Given the description of an element on the screen output the (x, y) to click on. 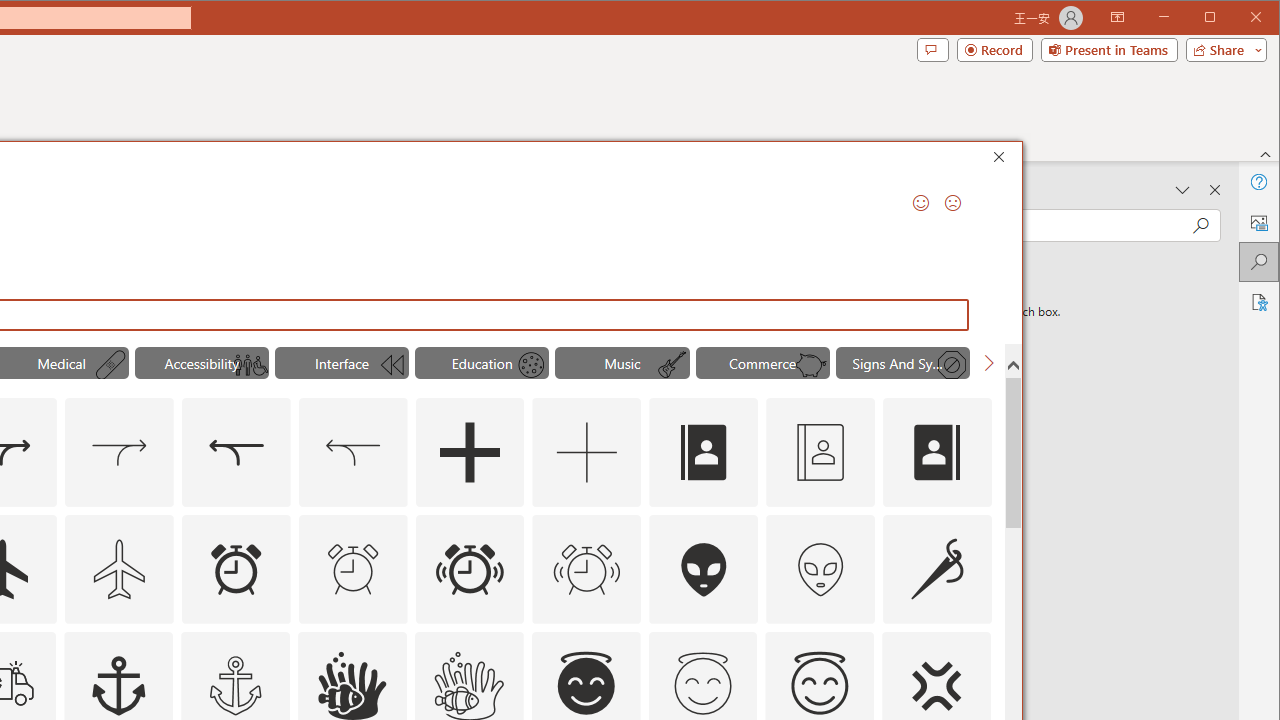
AutomationID: Icons_UniversalAccess_M (250, 365)
Maximize (1238, 18)
AutomationID: Icons_ElectricGuitar_M (671, 365)
AutomationID: Icons_AddressBook_RTL (938, 452)
